Given the description of an element on the screen output the (x, y) to click on. 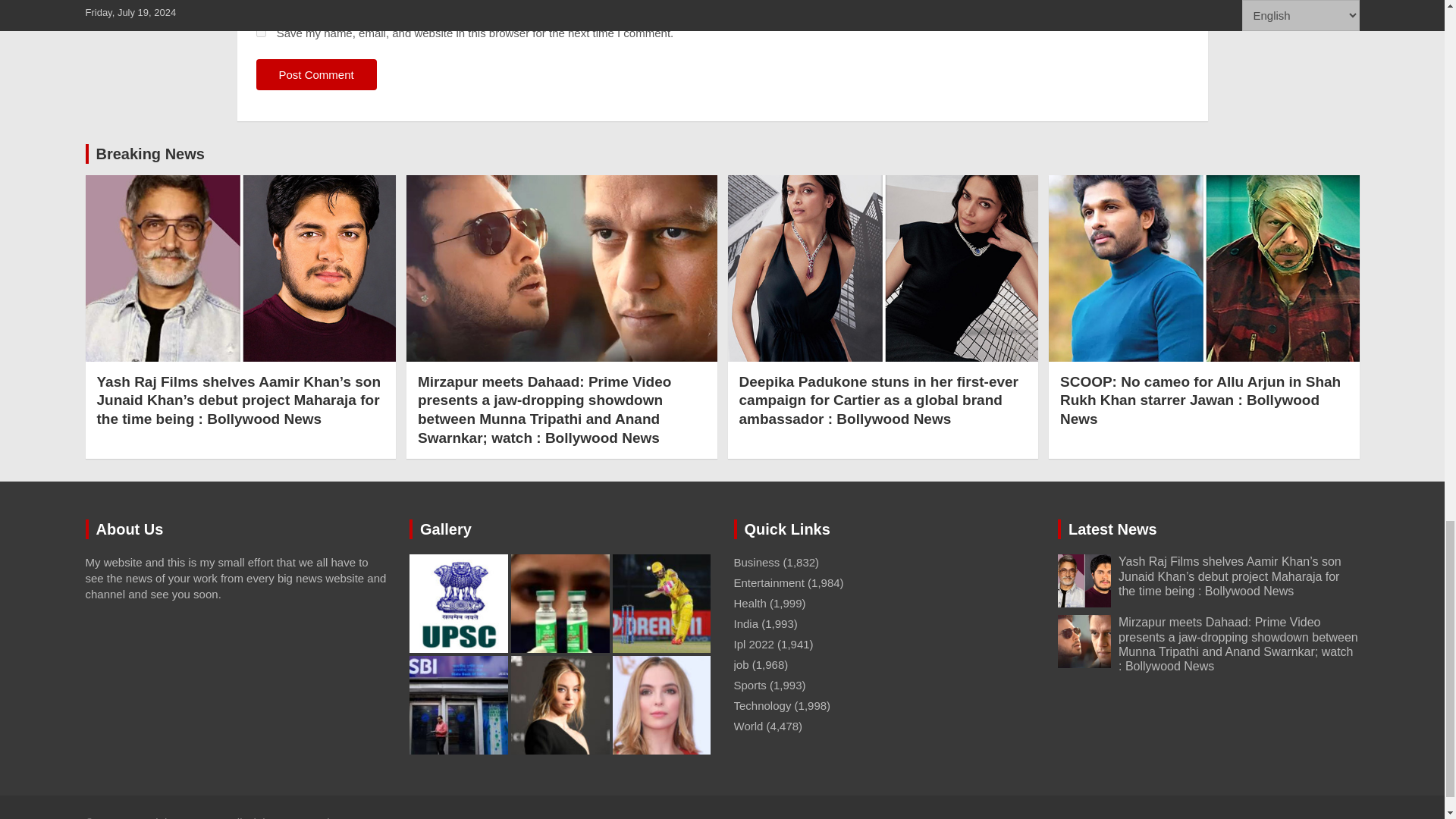
Post Comment (316, 74)
yes (261, 31)
Post Comment (316, 74)
Breaking News (149, 153)
